Given the description of an element on the screen output the (x, y) to click on. 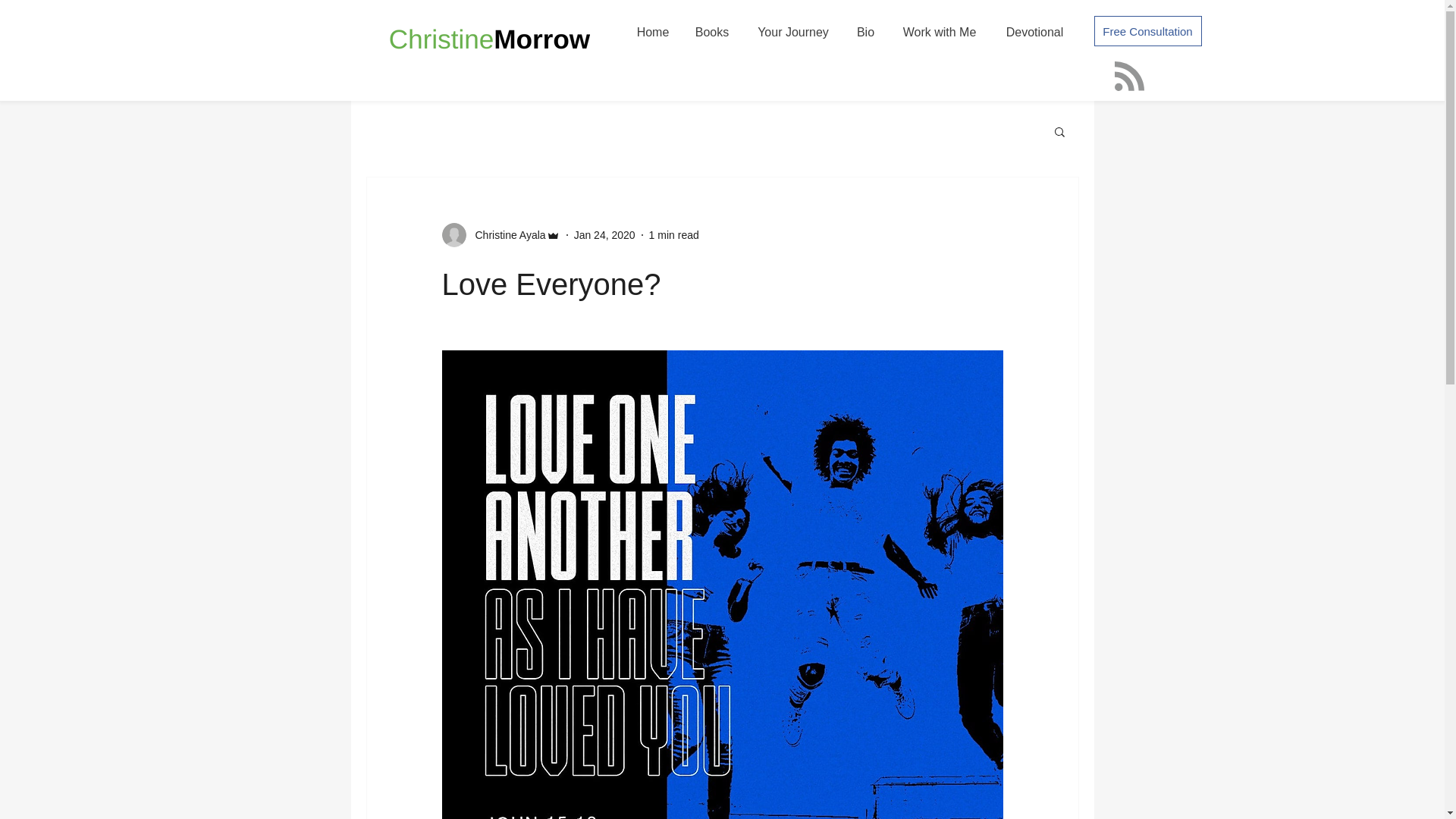
Free Consultation (1147, 30)
Your Journey (792, 31)
Bio (865, 31)
1 min read (673, 234)
Devotional (1034, 31)
Home (652, 31)
Work with Me (939, 31)
Books (712, 31)
Jan 24, 2020 (603, 234)
Christine Ayala (504, 235)
